Given the description of an element on the screen output the (x, y) to click on. 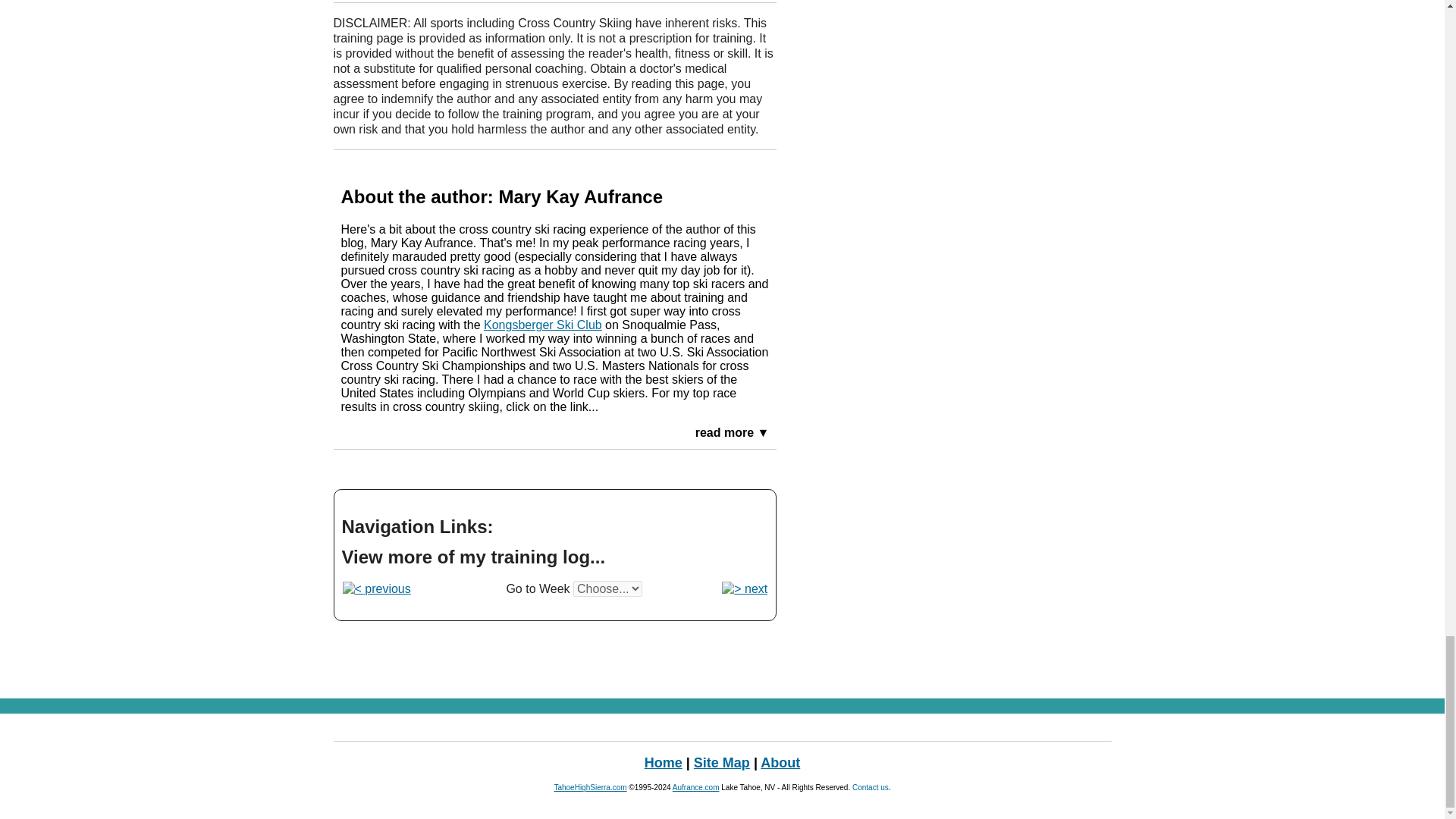
About Tahoe High Sierra (779, 762)
Kongsberger Ski Club (542, 324)
About (779, 762)
Contact us (869, 786)
Tahoe High Sierra site map (721, 762)
Site Map (721, 762)
Tahoe Home Page (663, 762)
Aufrance.com (695, 786)
TahoeHighSierra.com (589, 786)
Home (663, 762)
